Given the description of an element on the screen output the (x, y) to click on. 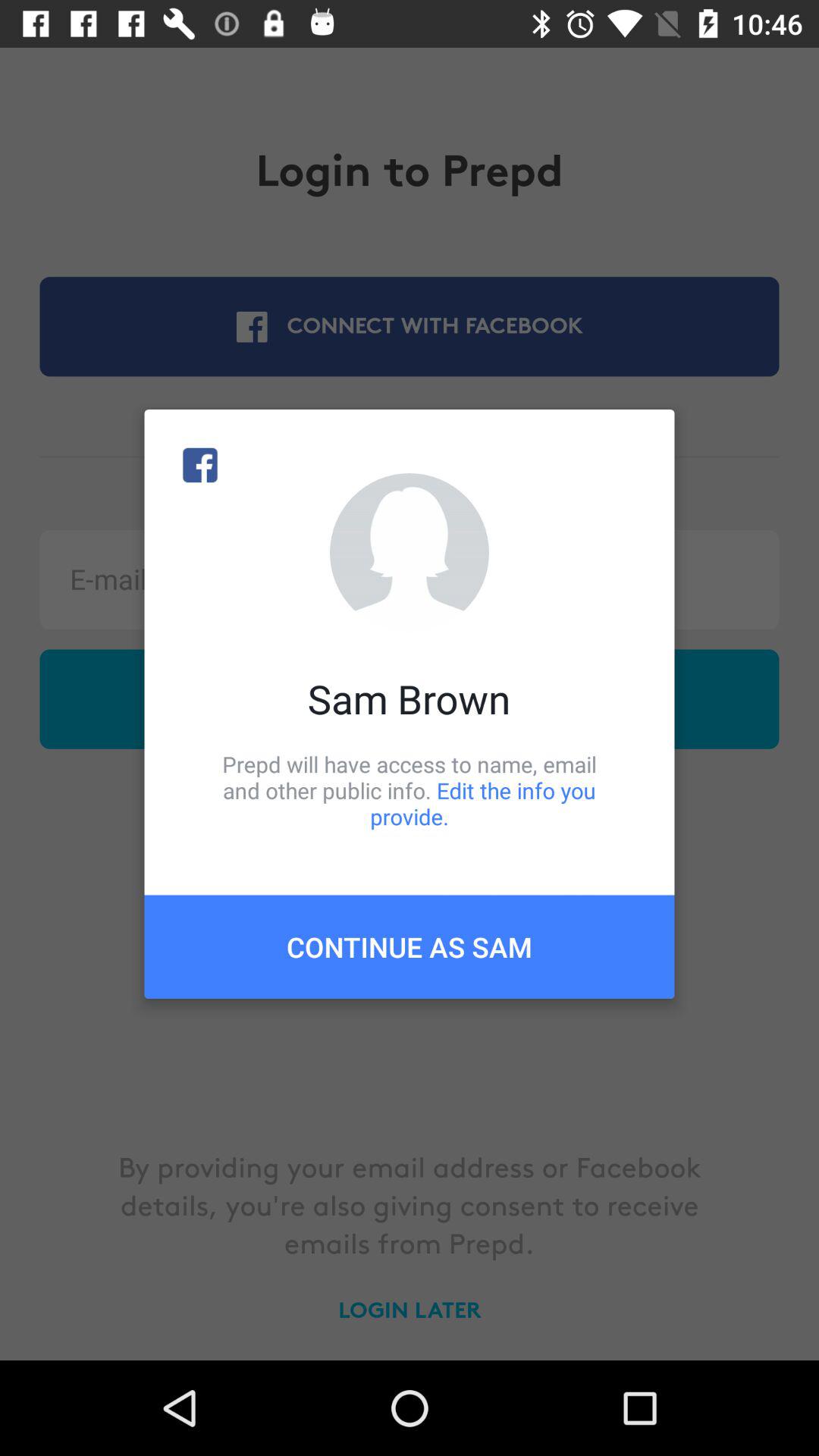
turn off the item below sam brown (409, 790)
